Given the description of an element on the screen output the (x, y) to click on. 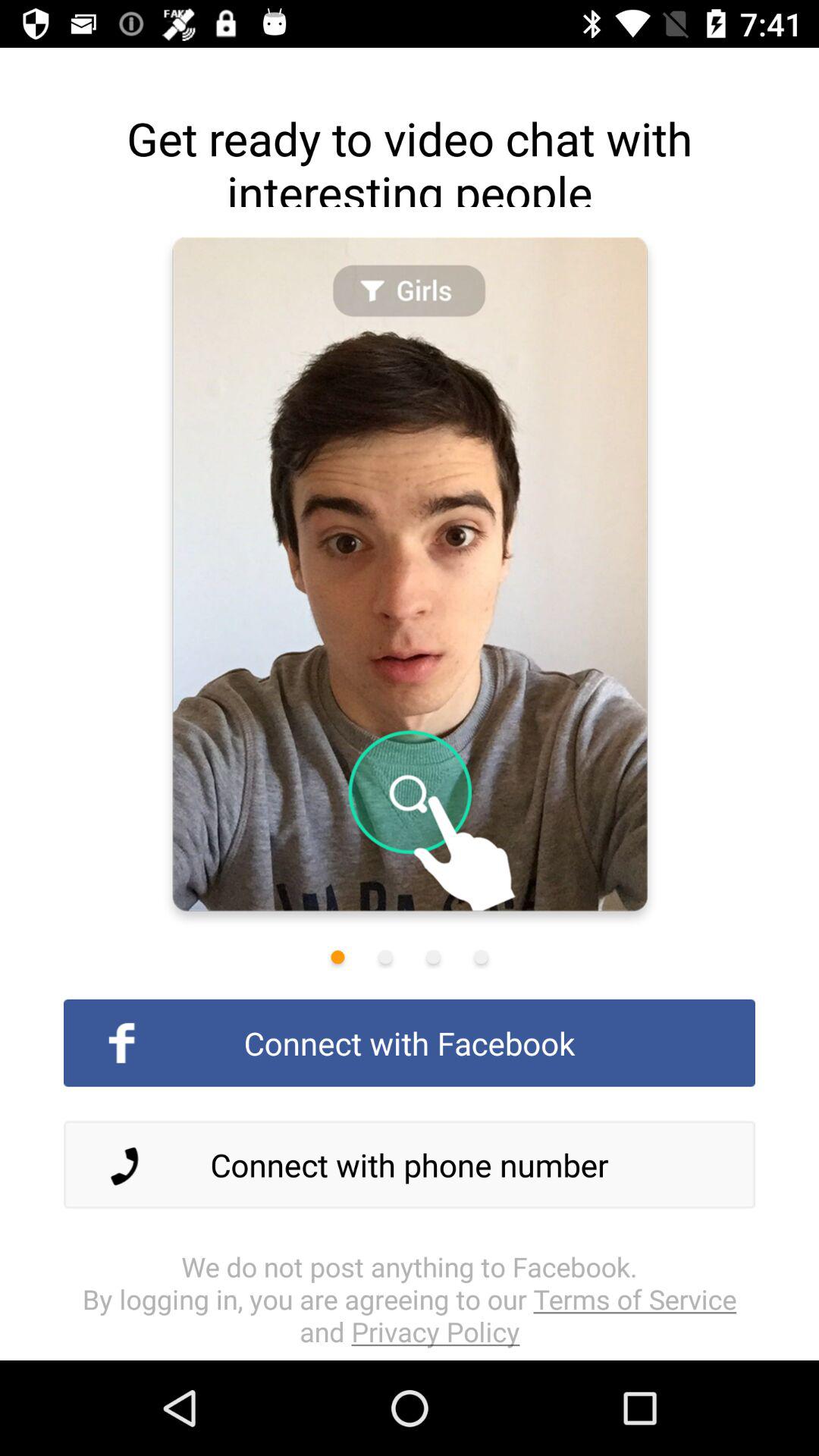
select item (480, 957)
